Given the description of an element on the screen output the (x, y) to click on. 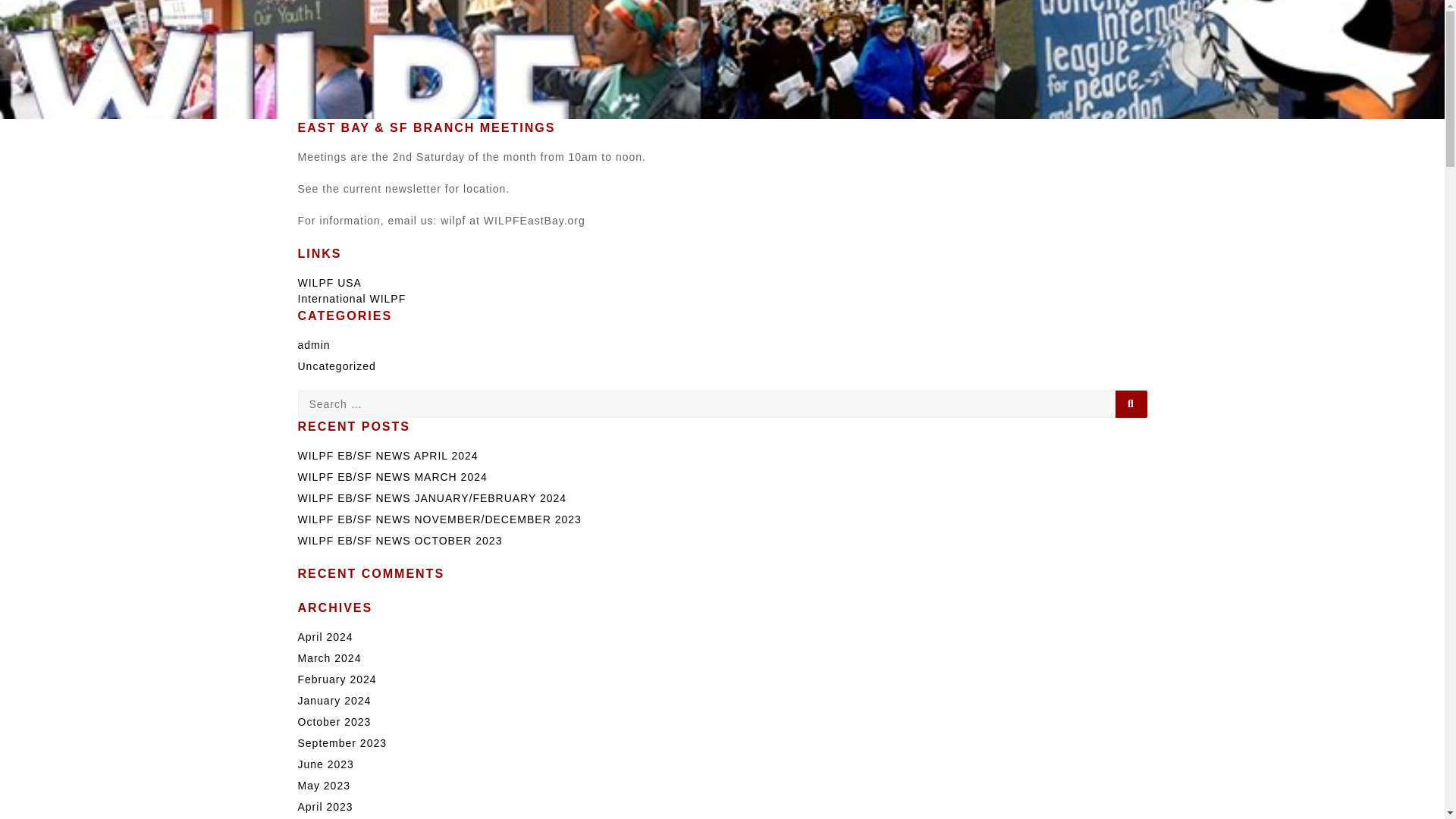
WILPF USA (329, 282)
September 2023 (342, 743)
April 2023 (324, 806)
March 2024 (329, 657)
October 2023 (334, 721)
April 2024 (324, 636)
International WILPF (351, 298)
admin (313, 345)
SEARCH (1131, 403)
January 2024 (334, 700)
May 2023 (323, 785)
February 2024 (336, 679)
June 2023 (325, 764)
Uncategorized (336, 366)
